Given the description of an element on the screen output the (x, y) to click on. 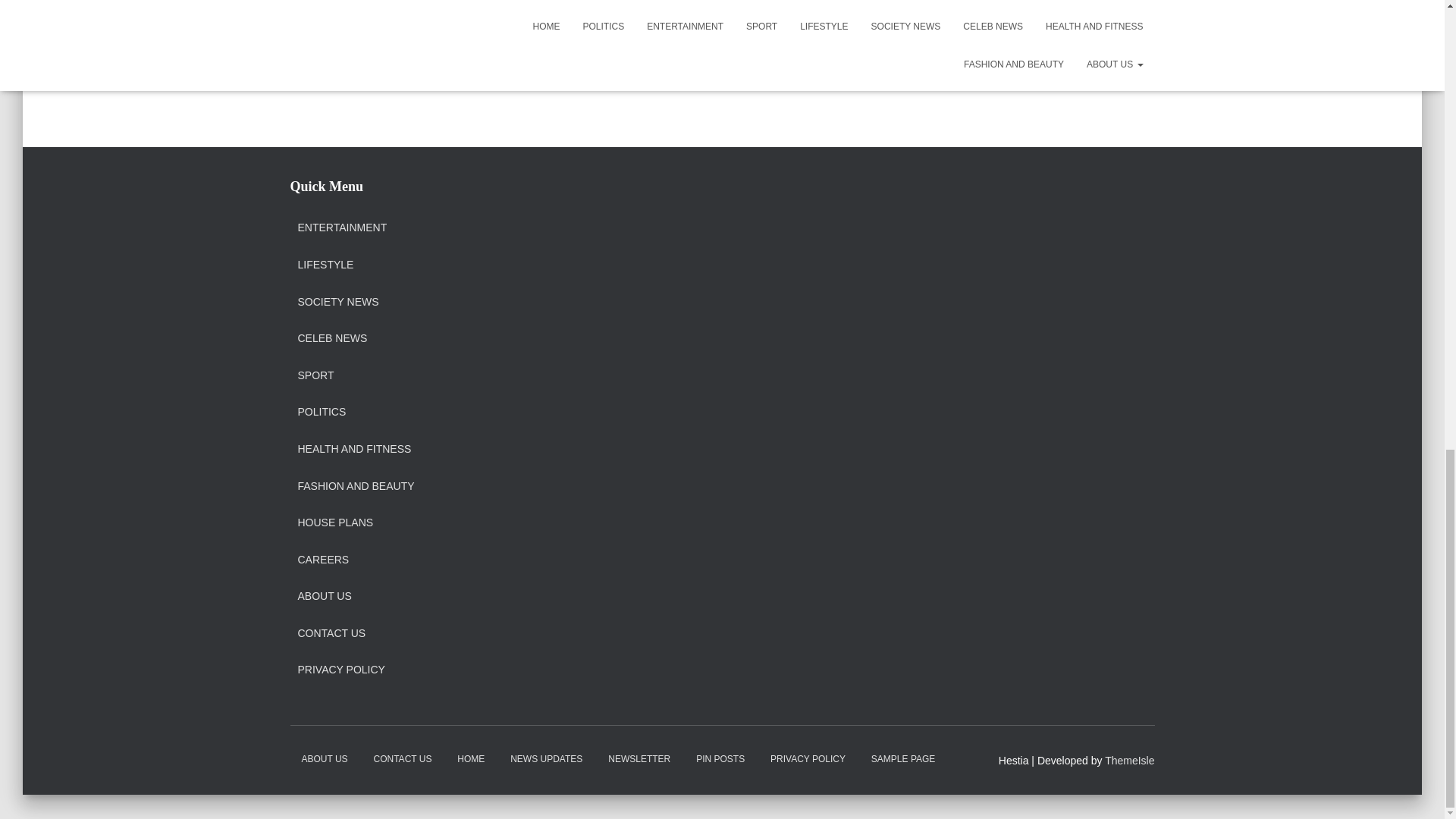
CELEB NEWS (331, 338)
CAREERS (323, 560)
HEALTH AND FITNESS (353, 449)
Thina Zungu bio, double storey house, wife, children, house (1068, 18)
POLITICS (321, 412)
ENTERTAINMENT (342, 227)
SPORT (315, 376)
CONTACT US (331, 633)
HOUSE PLANS (334, 522)
ABOUT US (323, 596)
